Given the description of an element on the screen output the (x, y) to click on. 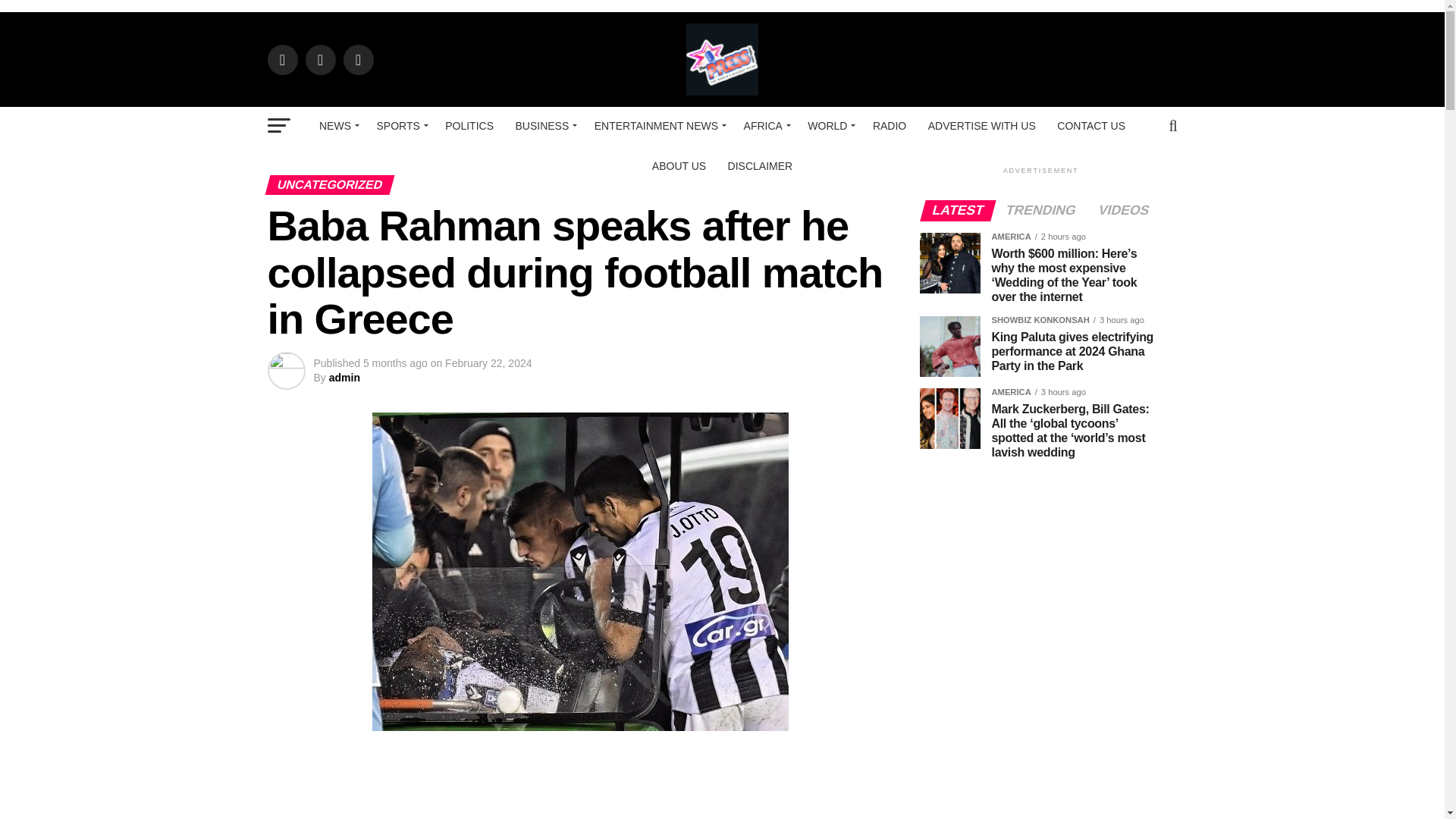
NEWS (337, 125)
